Given the description of an element on the screen output the (x, y) to click on. 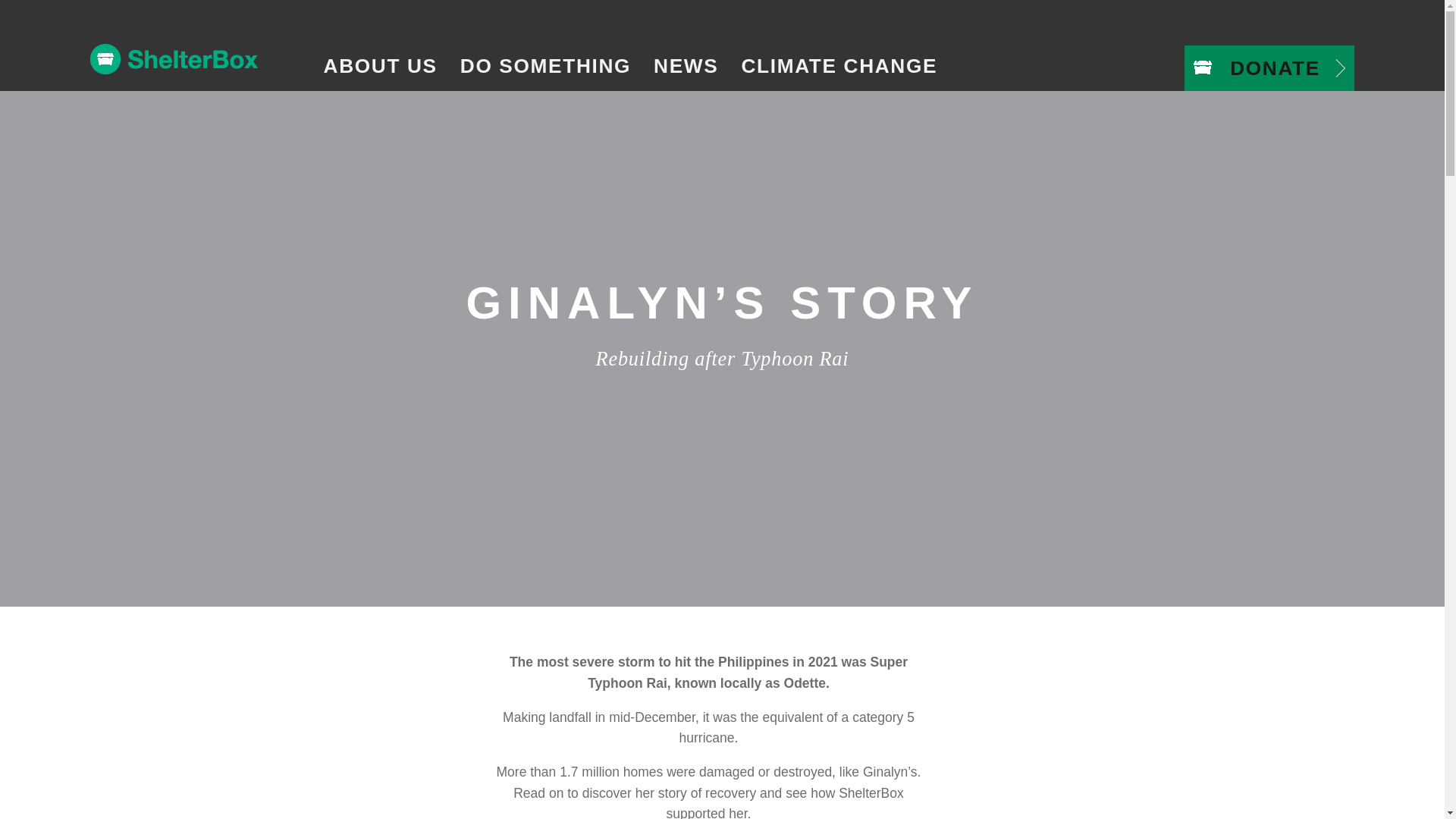
ABOUT US (380, 65)
CLIMATE CHANGE (839, 65)
Home (195, 62)
DONATE (1269, 67)
DO SOMETHING (545, 65)
NEWS (685, 65)
